Given the description of an element on the screen output the (x, y) to click on. 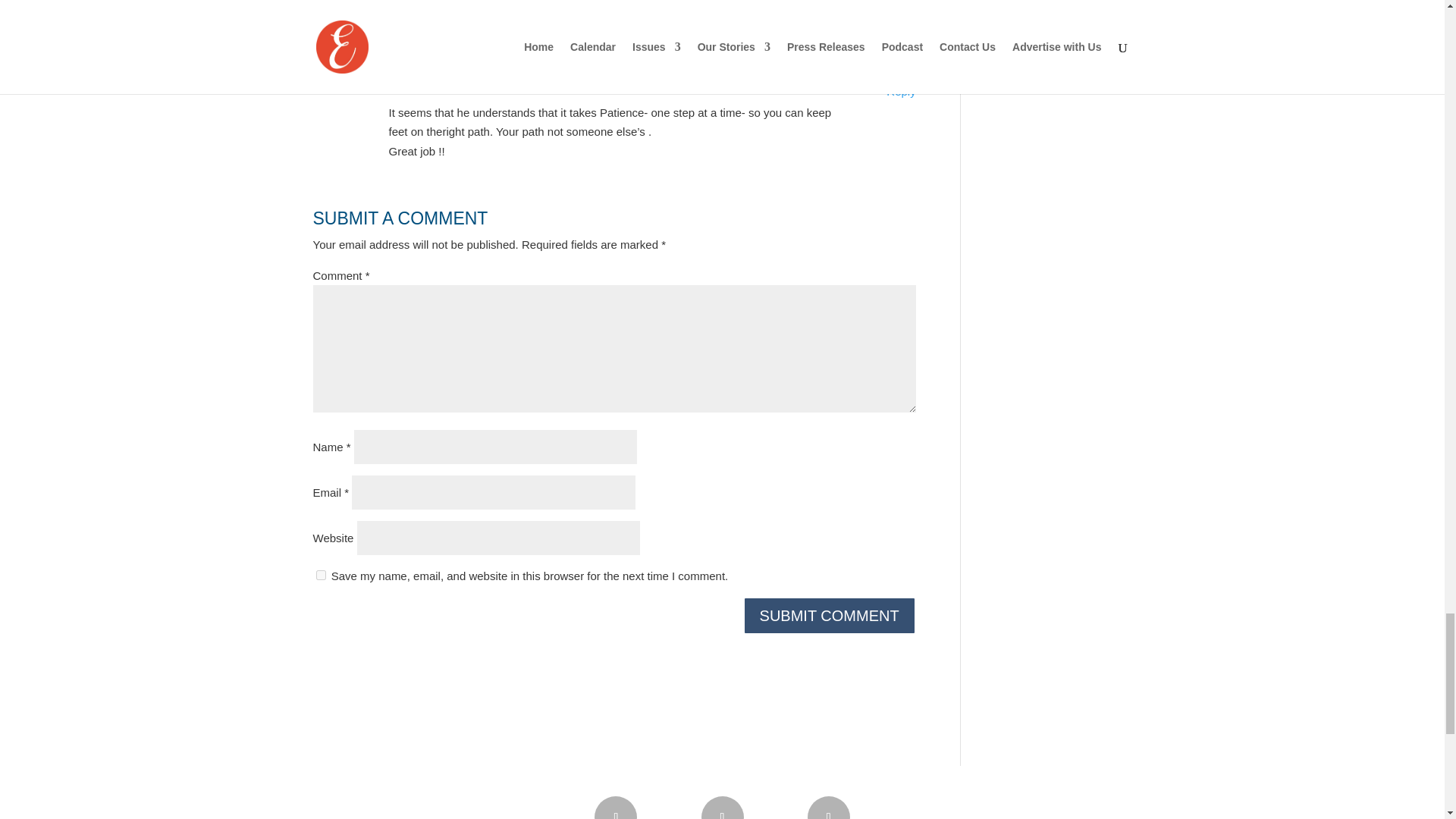
Follow on LinkedIn (829, 807)
Follow on Facebook (615, 807)
yes (319, 574)
Submit Comment (828, 615)
Follow on Instagram (721, 807)
